Given the description of an element on the screen output the (x, y) to click on. 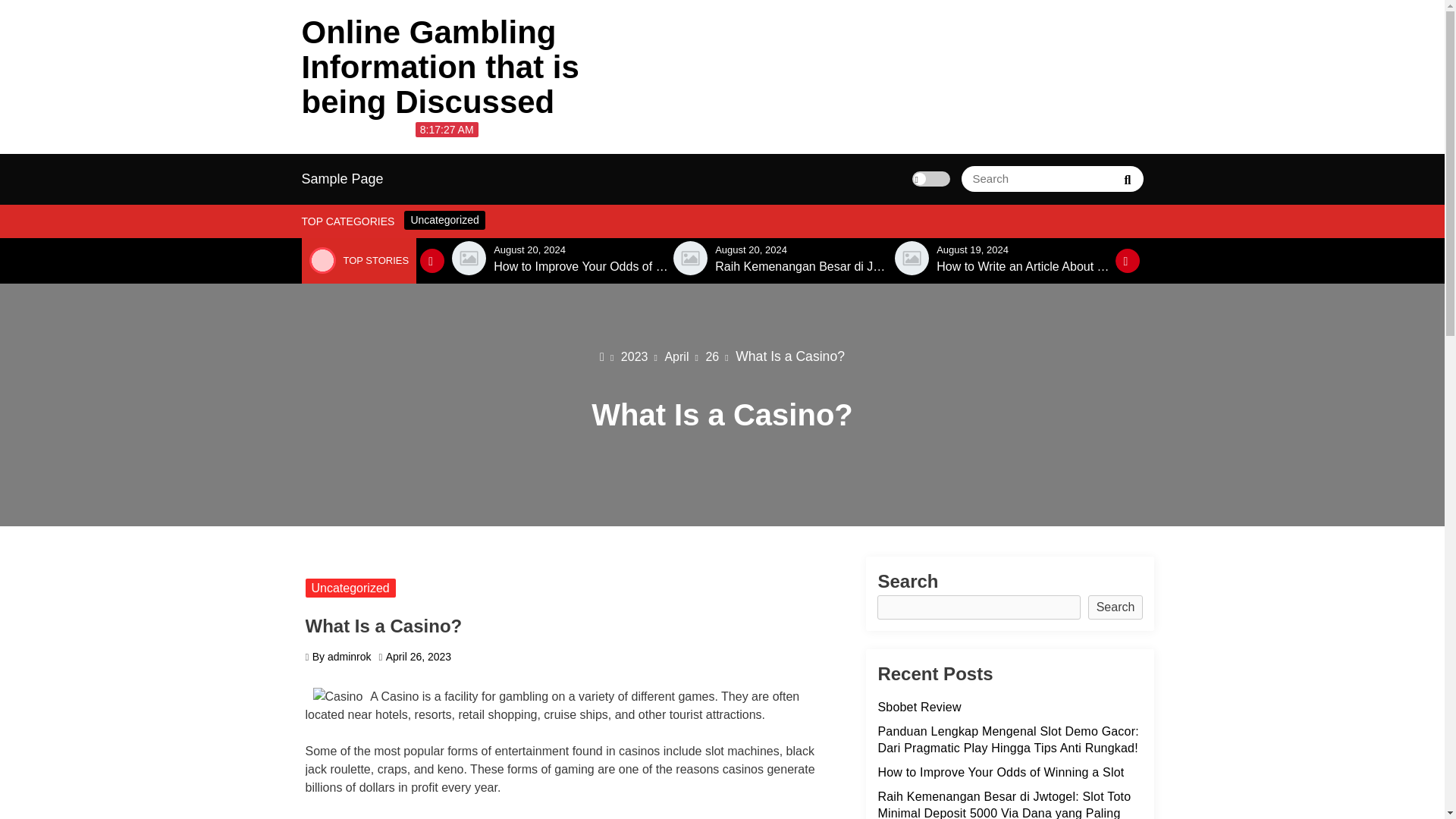
August 19, 2024 (972, 249)
August 20, 2024 (750, 249)
Uncategorized (444, 220)
Sample Page (342, 178)
August 20, 2024 (529, 249)
Search (1127, 178)
How to Write an Article About Poker (1024, 266)
Online Gambling Information that is being Discussed (440, 66)
How to Improve Your Odds of Winning a Slot (581, 266)
